Given the description of an element on the screen output the (x, y) to click on. 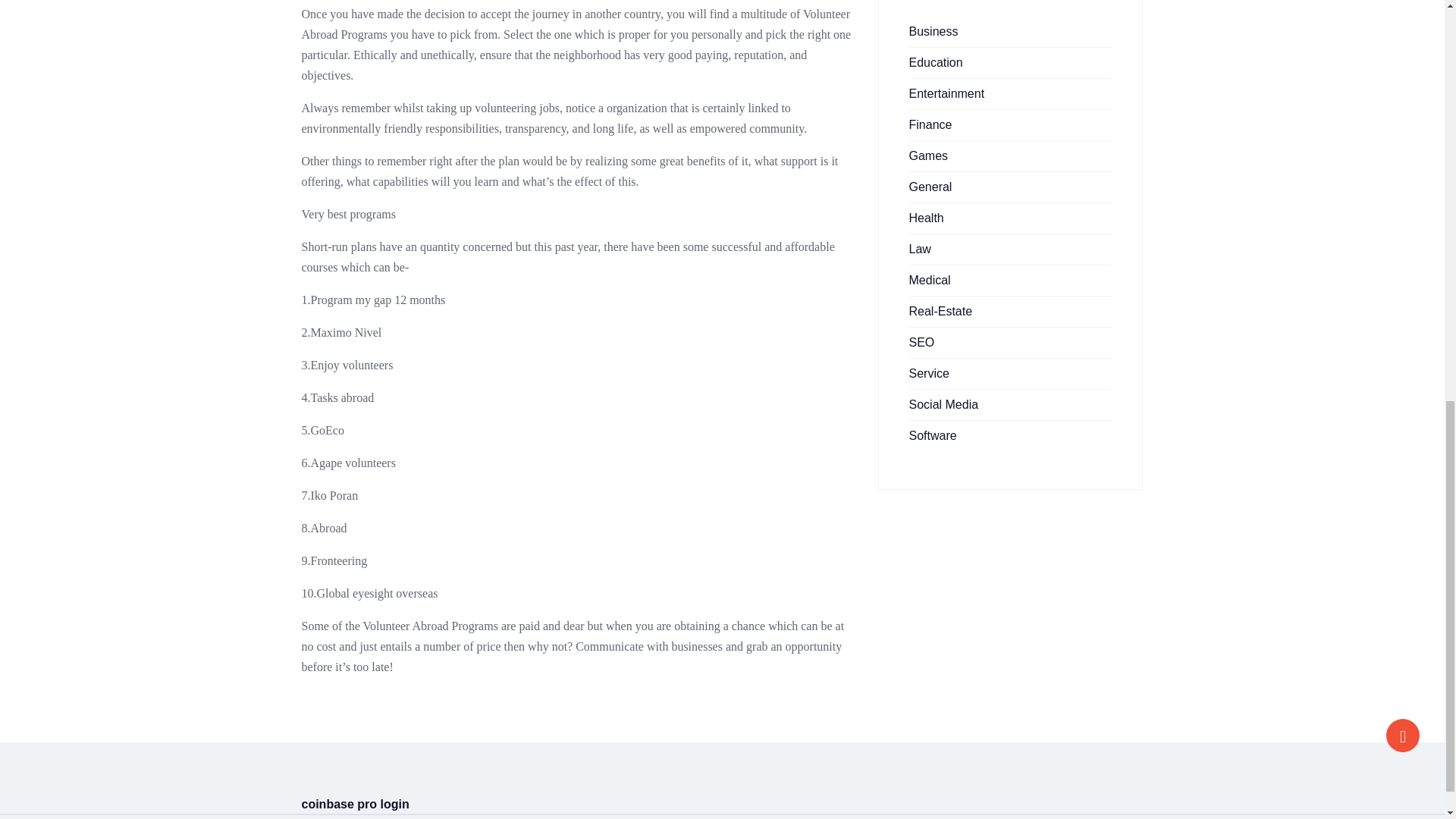
Software (932, 435)
Finance (930, 124)
Health (925, 217)
SEO (921, 341)
Social Media (943, 404)
coinbase pro login (355, 803)
Entertainment (946, 92)
Real-Estate (940, 310)
General (930, 186)
Business (933, 31)
Education (935, 62)
Law (919, 248)
Games (927, 155)
Service (928, 373)
Medical (929, 279)
